Given the description of an element on the screen output the (x, y) to click on. 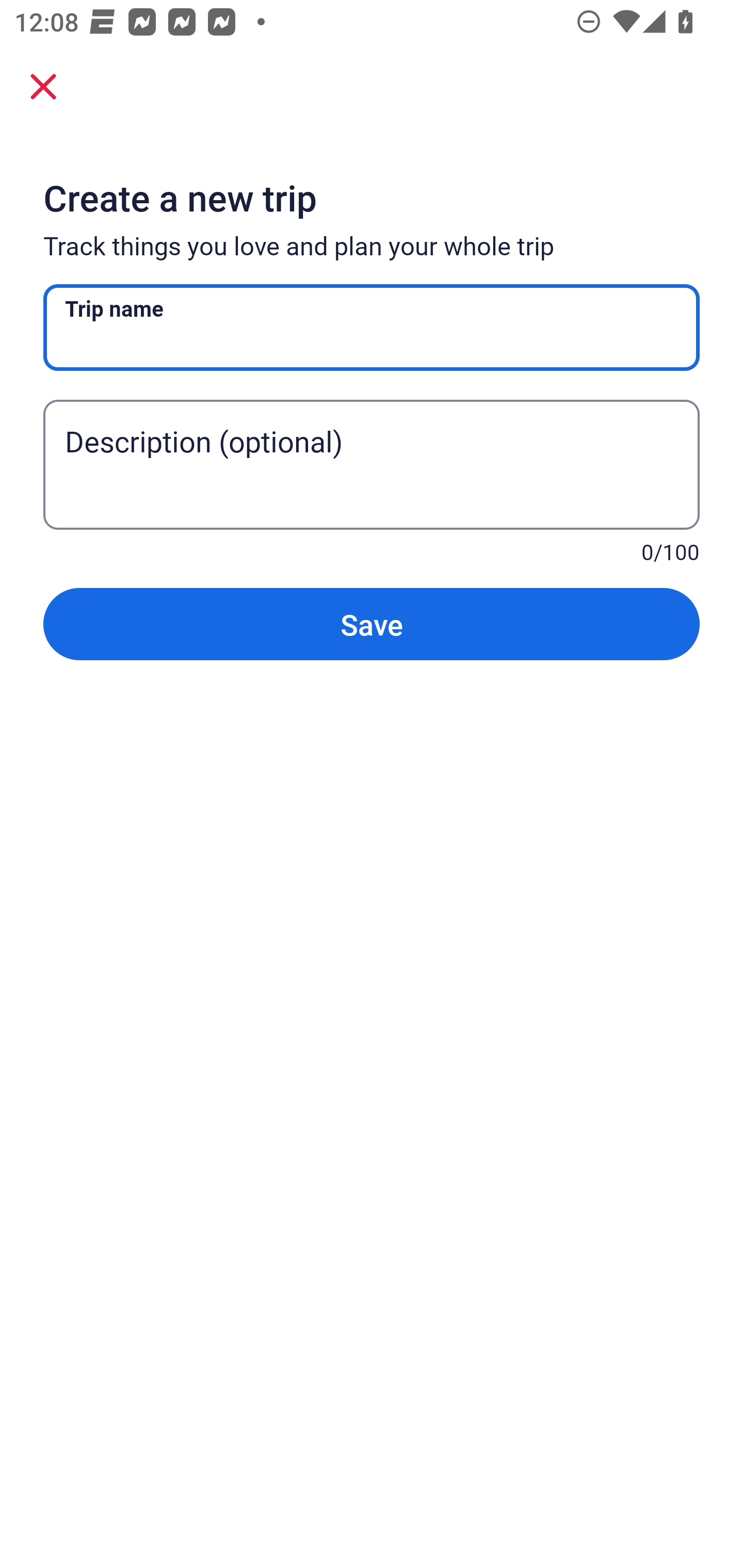
Close (43, 86)
Trip name (371, 327)
Save Button Save (371, 624)
